Given the description of an element on the screen output the (x, y) to click on. 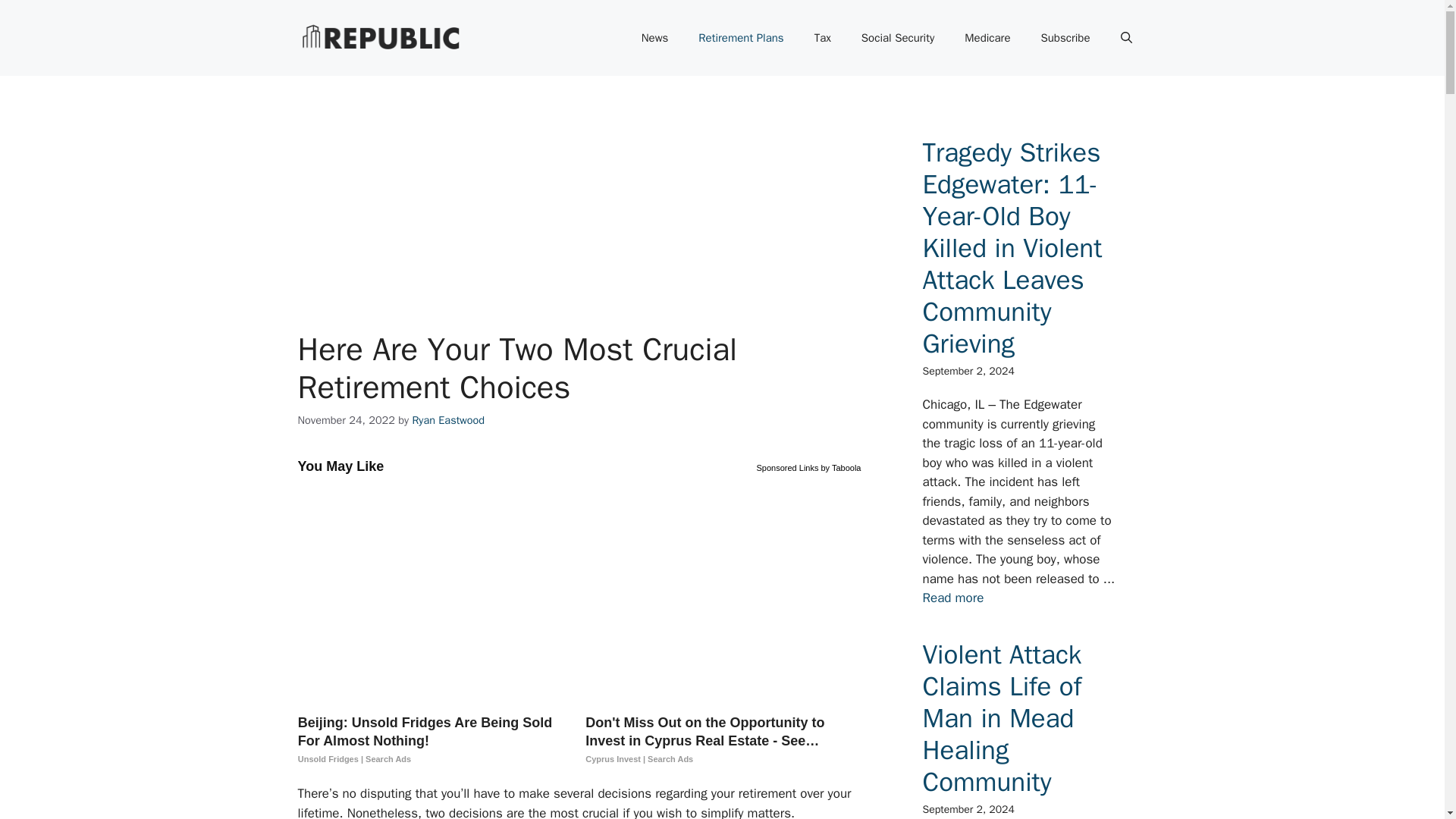
Subscribe (1065, 37)
Tax (822, 37)
Retirement Plans (739, 37)
by Taboola (840, 466)
Sponsored Links (787, 466)
Ryan Eastwood (448, 419)
Medicare (987, 37)
View all posts by Ryan Eastwood (448, 419)
News (655, 37)
